Given the description of an element on the screen output the (x, y) to click on. 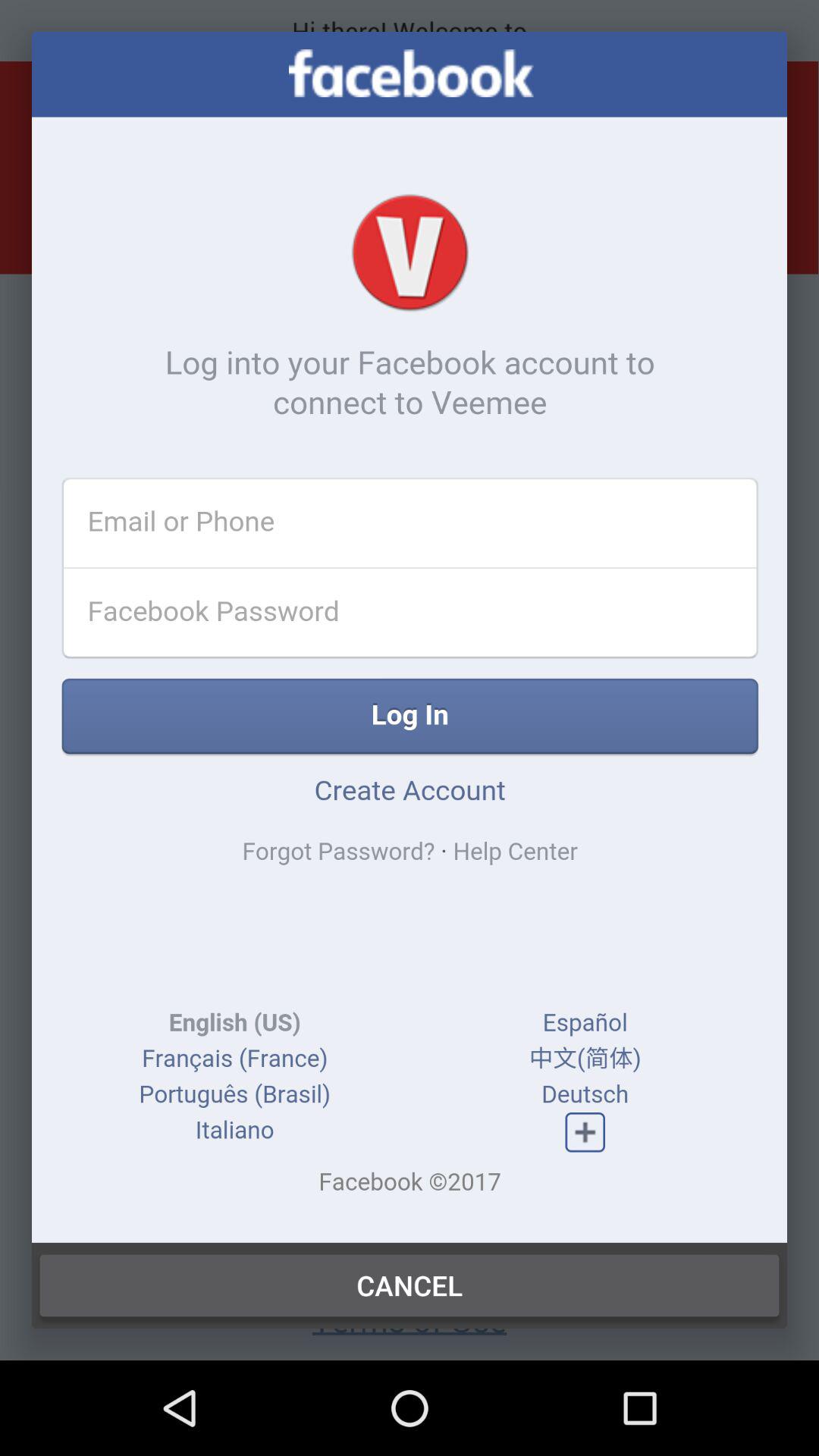
sign in to facebook (409, 636)
